Given the description of an element on the screen output the (x, y) to click on. 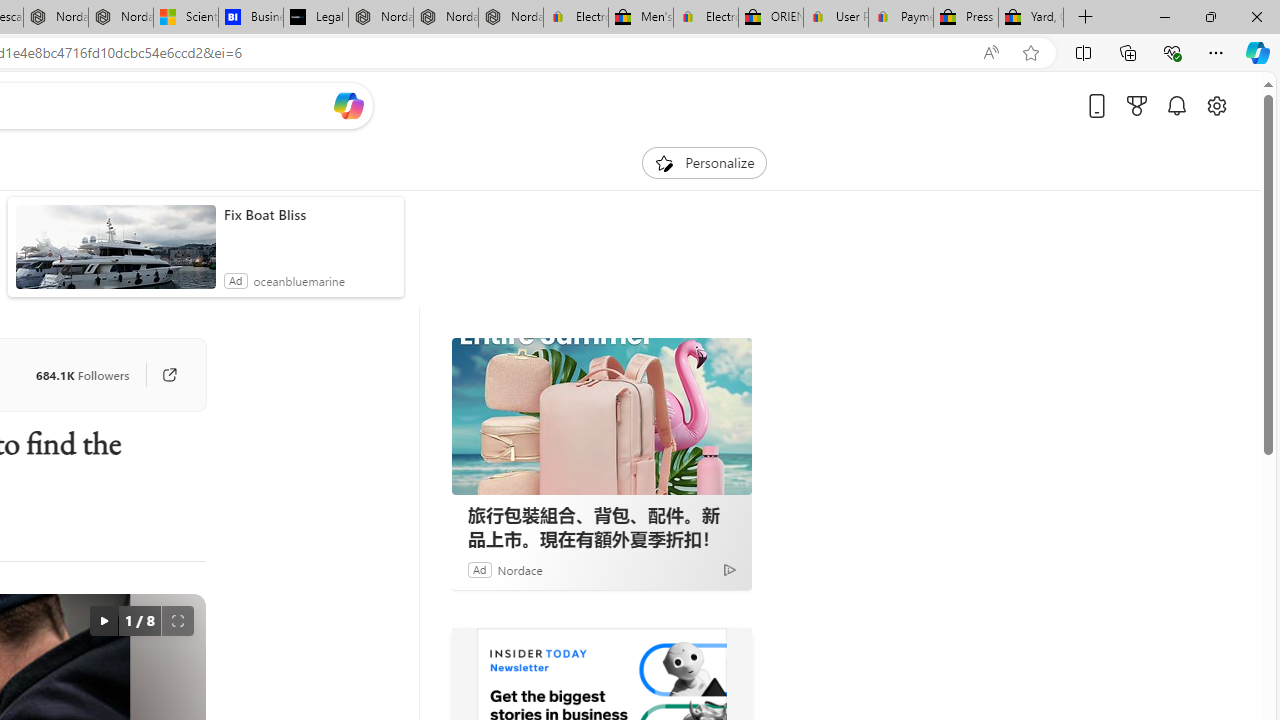
Go to publisher's site (169, 374)
Open settings (1216, 105)
autorotate button (103, 620)
